Given the description of an element on the screen output the (x, y) to click on. 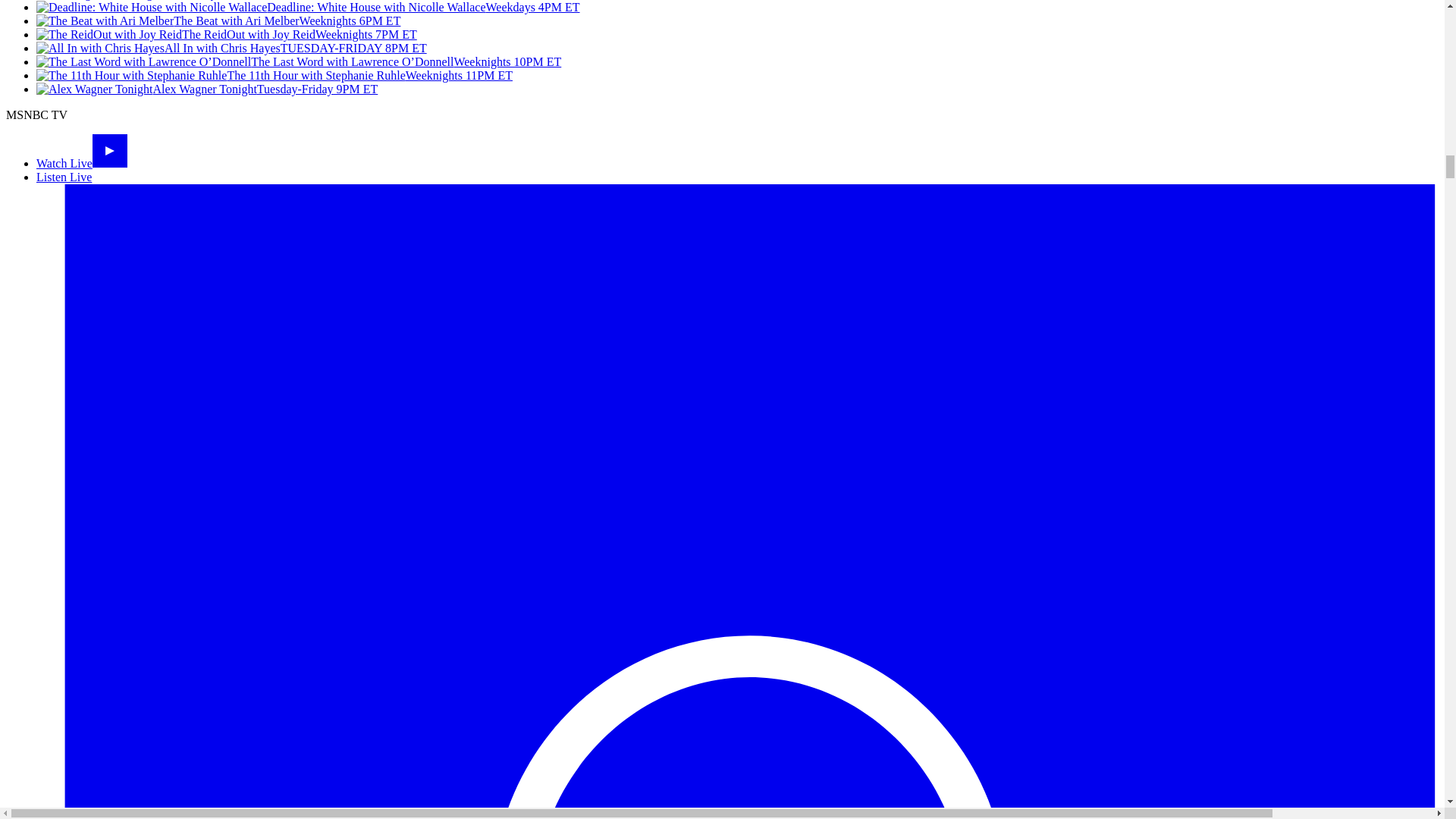
The Beat with Ari MelberWeeknights 6PM ET (218, 20)
The ReidOut with Joy ReidWeeknights 7PM ET (226, 33)
Alex Wagner TonightTuesday-Friday 9PM ET (206, 88)
The 11th Hour with Stephanie RuhleWeeknights 11PM ET (274, 74)
All In with Chris HayesTUESDAY-FRIDAY 8PM ET (231, 47)
Watch Live (82, 163)
Deadline: White House with Nicolle WallaceWeekdays 4PM ET (307, 6)
